Given the description of an element on the screen output the (x, y) to click on. 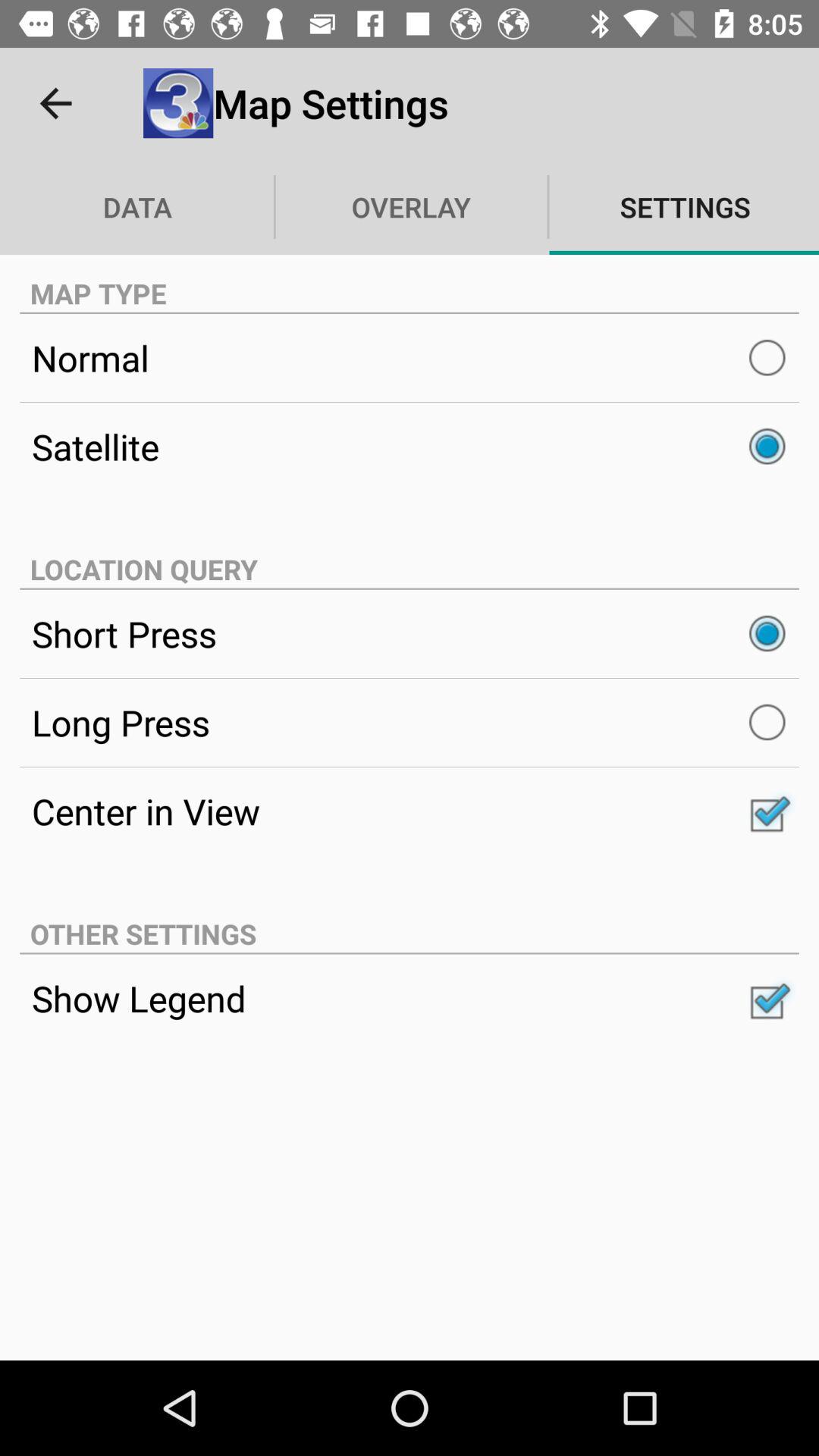
jump until show legend item (409, 998)
